Given the description of an element on the screen output the (x, y) to click on. 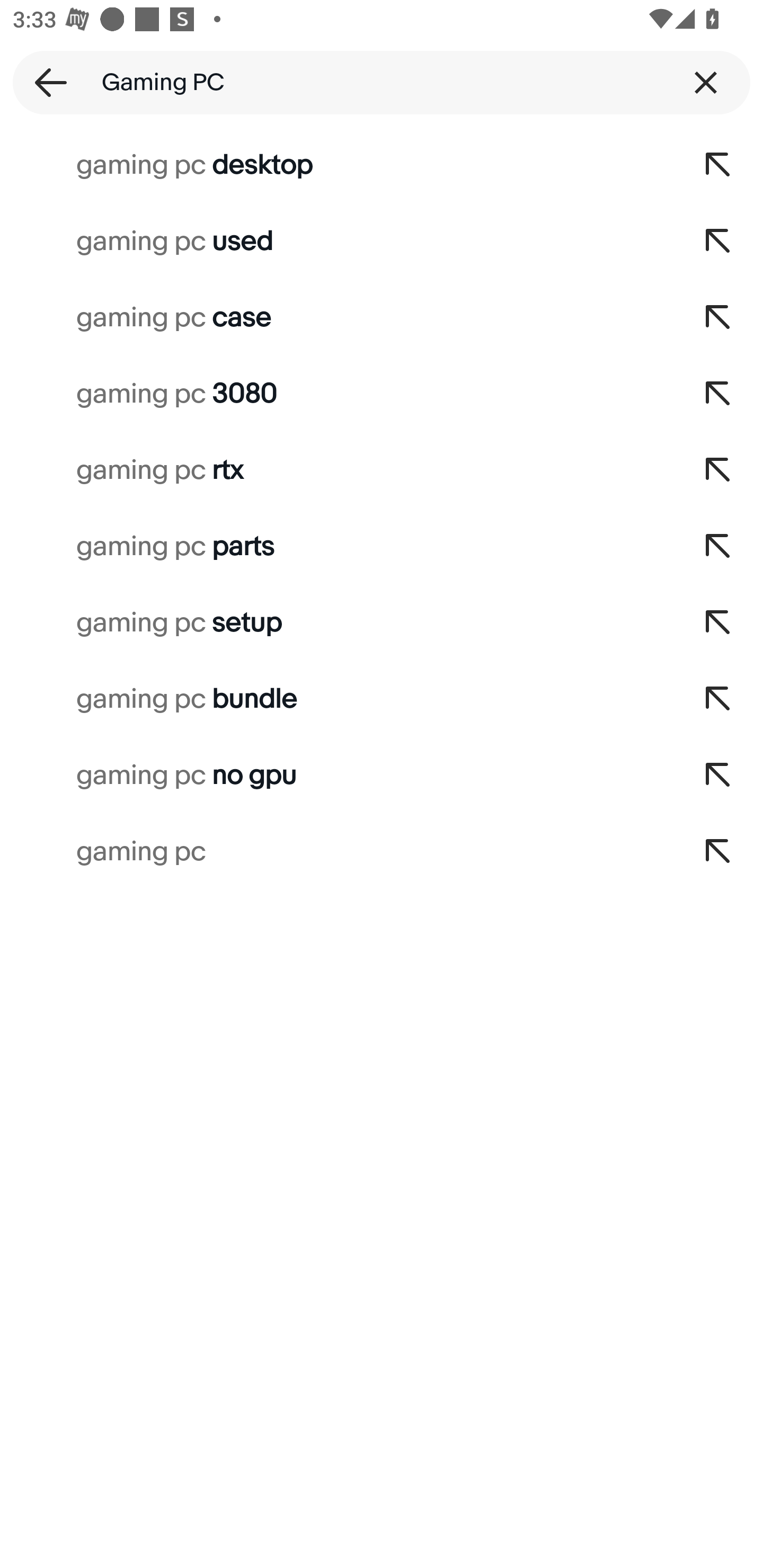
Back (44, 82)
Clear query (705, 82)
Gaming PC (381, 82)
gaming pc desktop (336, 165)
Add to search query,gaming pc desktop (718, 165)
gaming pc used (336, 241)
Add to search query,gaming pc used (718, 241)
gaming pc case (336, 317)
Add to search query,gaming pc case (718, 317)
gaming pc 3080 (336, 393)
Add to search query,gaming pc 3080 (718, 393)
gaming pc rtx (336, 470)
Add to search query,gaming pc rtx (718, 470)
gaming pc parts (336, 546)
Add to search query,gaming pc parts (718, 546)
gaming pc setup (336, 622)
Add to search query,gaming pc setup (718, 622)
gaming pc bundle (336, 698)
Add to search query,gaming pc bundle (718, 698)
gaming pc no gpu (336, 774)
Add to search query,gaming pc no gpu (718, 774)
gaming pc (336, 851)
Add to search query,gaming pc (718, 851)
